Given the description of an element on the screen output the (x, y) to click on. 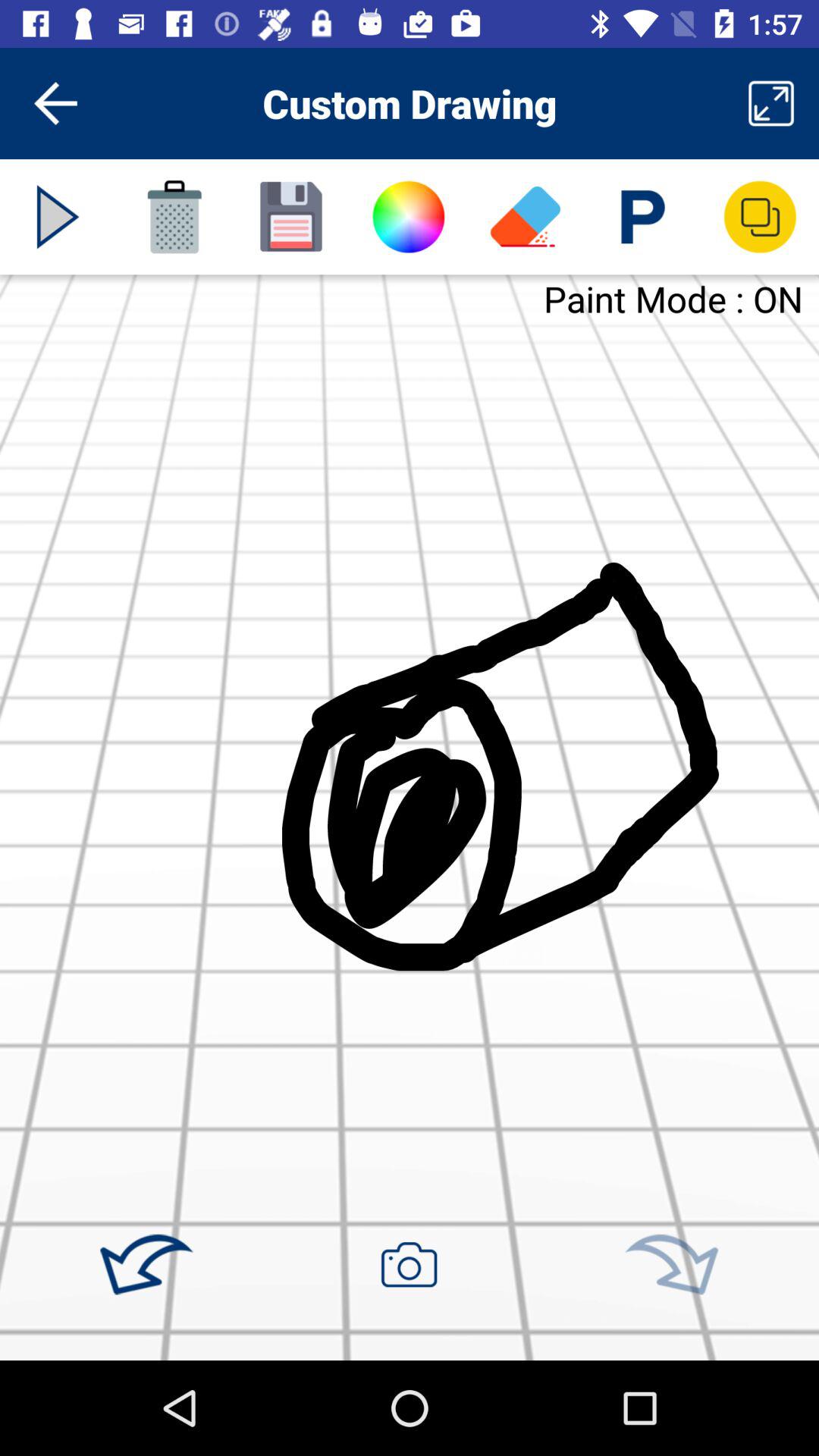
delete (174, 216)
